Given the description of an element on the screen output the (x, y) to click on. 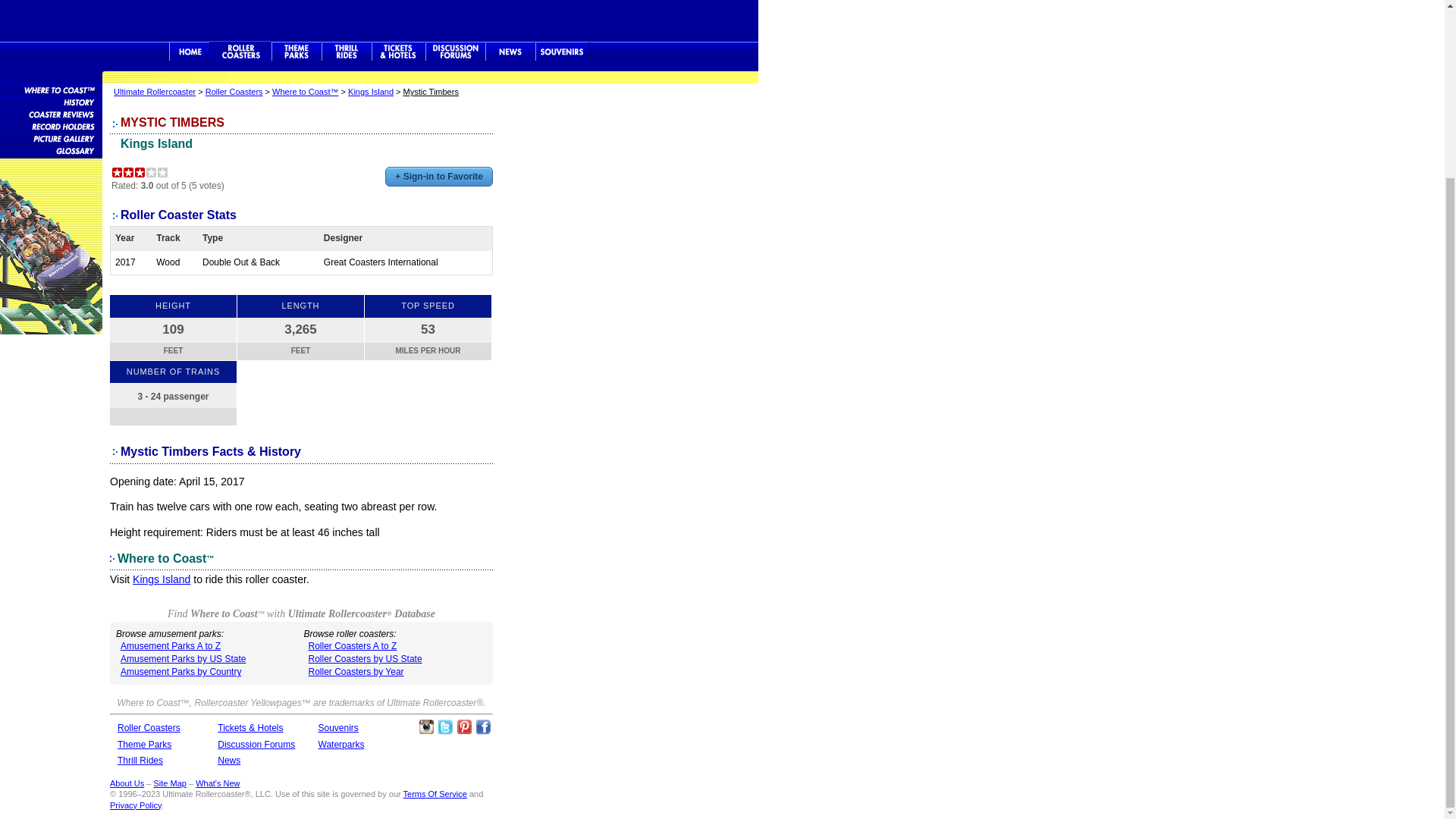
Roller Coasters (148, 727)
Waterparks (341, 744)
5 out of 5 (162, 172)
2 (127, 172)
4 (151, 172)
Amusement Parks by Country (180, 671)
Kings Island (156, 143)
Thrill Rides (346, 51)
4 out of 5 (151, 172)
Theme Parks (295, 51)
Like Ultimate Rollercoaster Facebook (483, 726)
Rollercoasters (239, 51)
Advertisement (379, 18)
Amusement Parks by US State (183, 658)
Follow Roller Coasters on Twitter (445, 726)
